Given the description of an element on the screen output the (x, y) to click on. 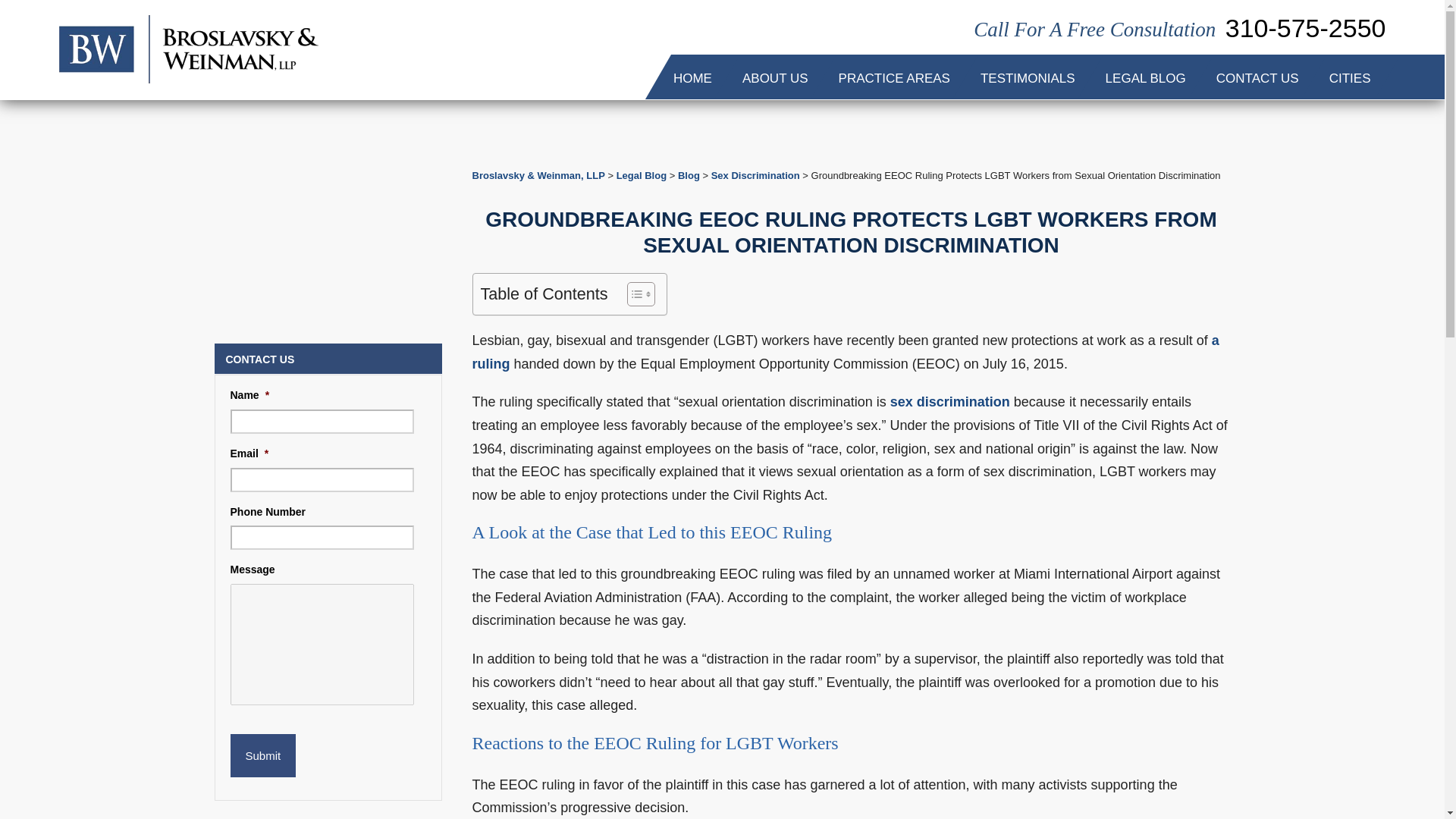
PRACTICE AREAS (894, 76)
Go to the Sex Discrimination Category archives. (755, 174)
HOME (692, 76)
310-575-2550 (1305, 47)
Go to the Blog Category archives. (689, 174)
Go to Legal Blog. (640, 174)
Submit (263, 755)
ABOUT US (775, 76)
